Given the description of an element on the screen output the (x, y) to click on. 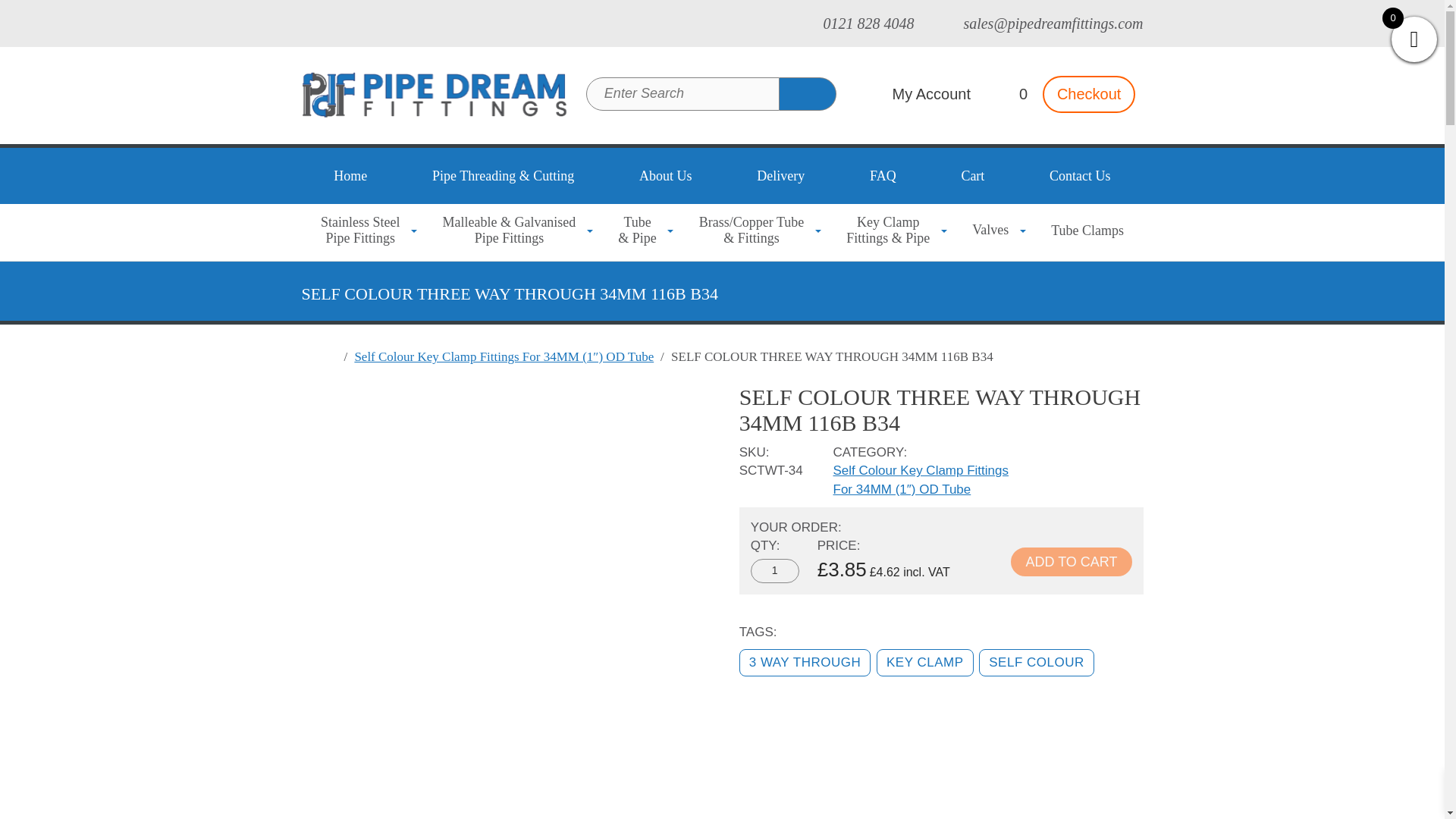
FAQ (882, 175)
Contact Us (1079, 175)
My Account  (915, 94)
Delivery (780, 175)
Cart (972, 175)
search (806, 93)
1 (362, 230)
0121 828 4048 (775, 570)
Checkout (855, 23)
Checkout (1088, 94)
Qty (1088, 94)
About Us (775, 570)
Home (665, 175)
0 (350, 175)
